Given the description of an element on the screen output the (x, y) to click on. 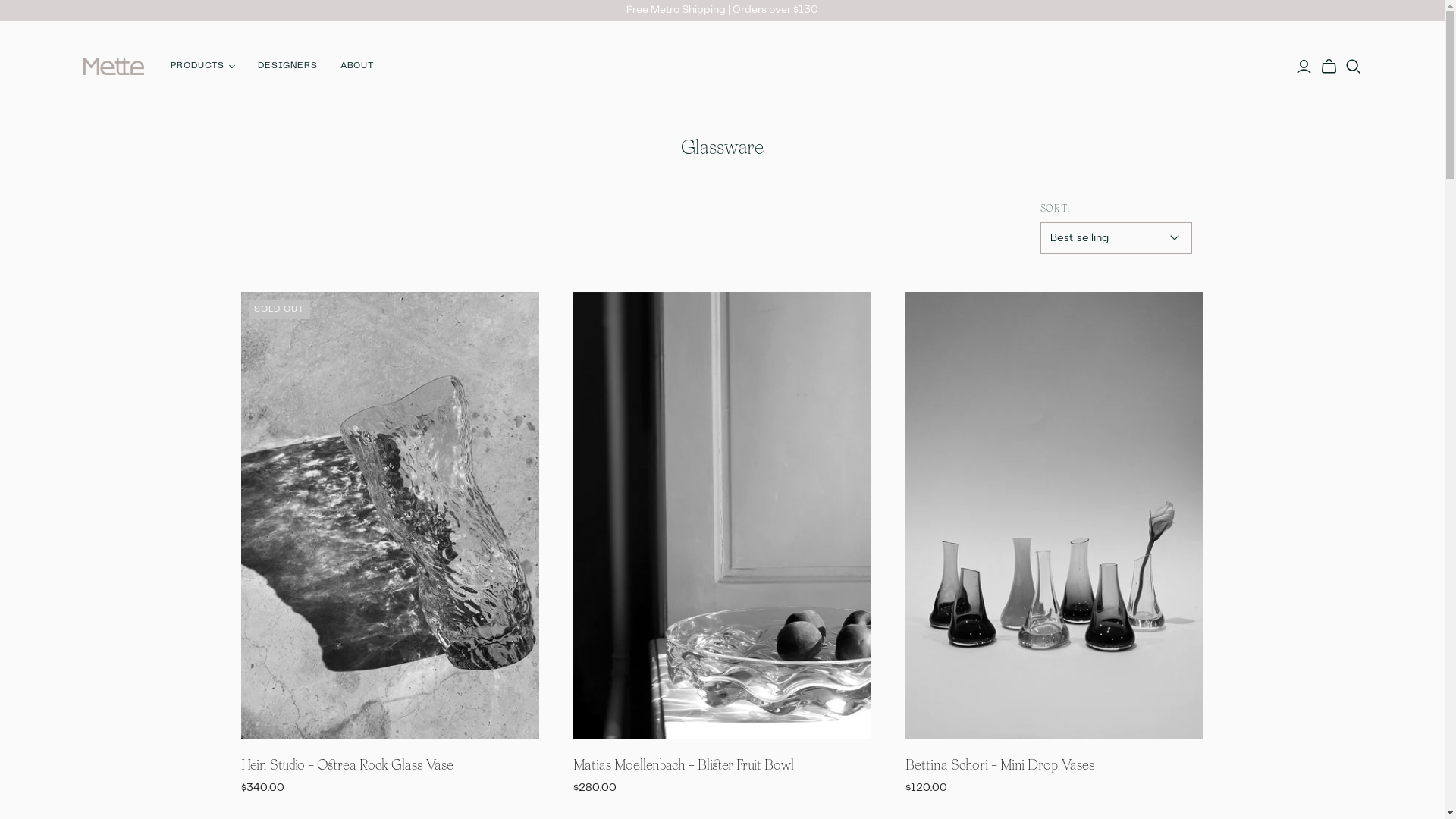
ABOUT Element type: text (357, 66)
PRODUCTS Element type: text (202, 66)
Free Metro Shipping | Orders over $130 Element type: text (722, 9)
DESIGNERS Element type: text (287, 66)
